Given the description of an element on the screen output the (x, y) to click on. 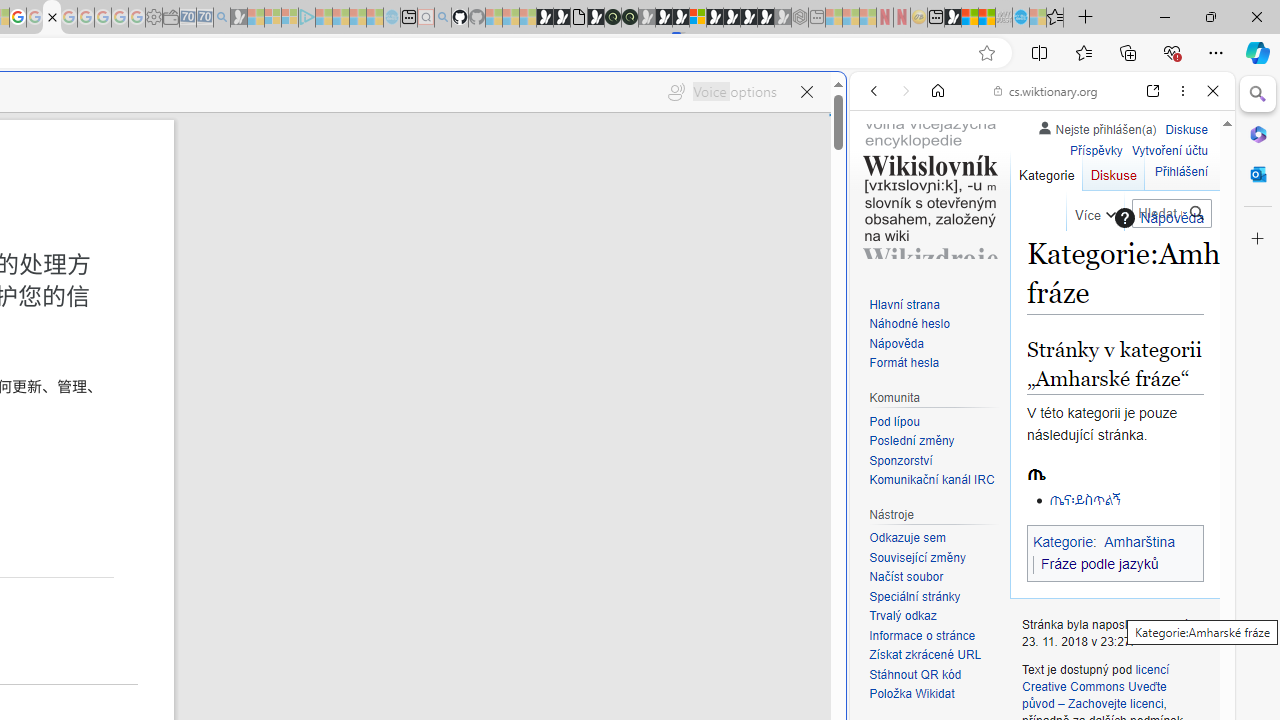
VIDEOS (1006, 228)
Navy Quest (1003, 17)
Close split screen (844, 102)
Play Zoo Boom in your browser | Games from Microsoft Start (561, 17)
